Given the description of an element on the screen output the (x, y) to click on. 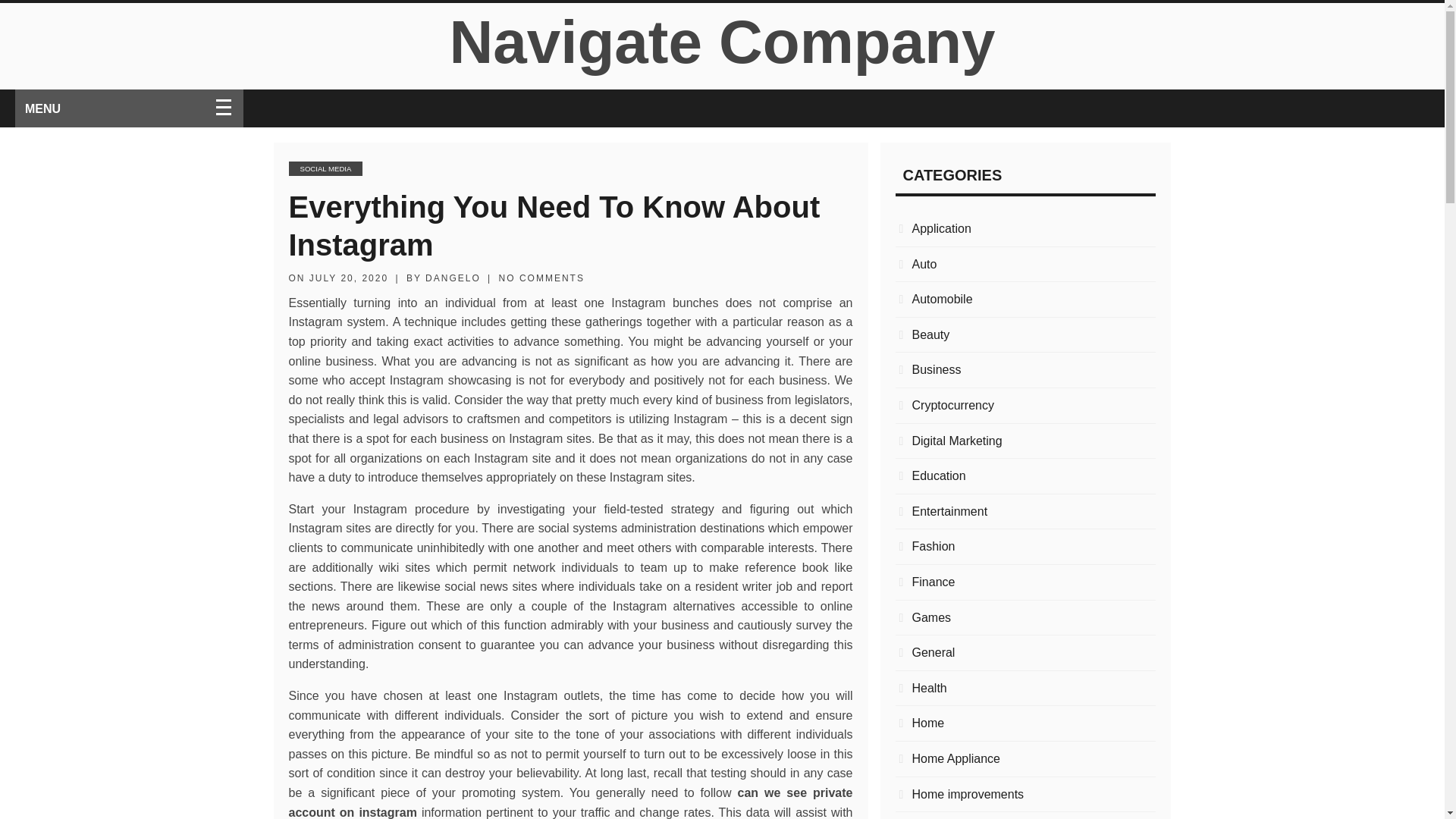
Home (1025, 723)
Digital Marketing (1025, 441)
Everything You Need To Know About Instagram (553, 225)
NO COMMENTS (542, 277)
Education (1025, 476)
Finance (1025, 582)
Cryptocurrency (1025, 405)
DANGELO (452, 277)
Home Appliance (1025, 759)
Health (1025, 688)
Entertainment (1025, 511)
Fashion (1025, 546)
Application (1025, 229)
Home improvements (1025, 793)
SOCIAL MEDIA (325, 168)
